Given the description of an element on the screen output the (x, y) to click on. 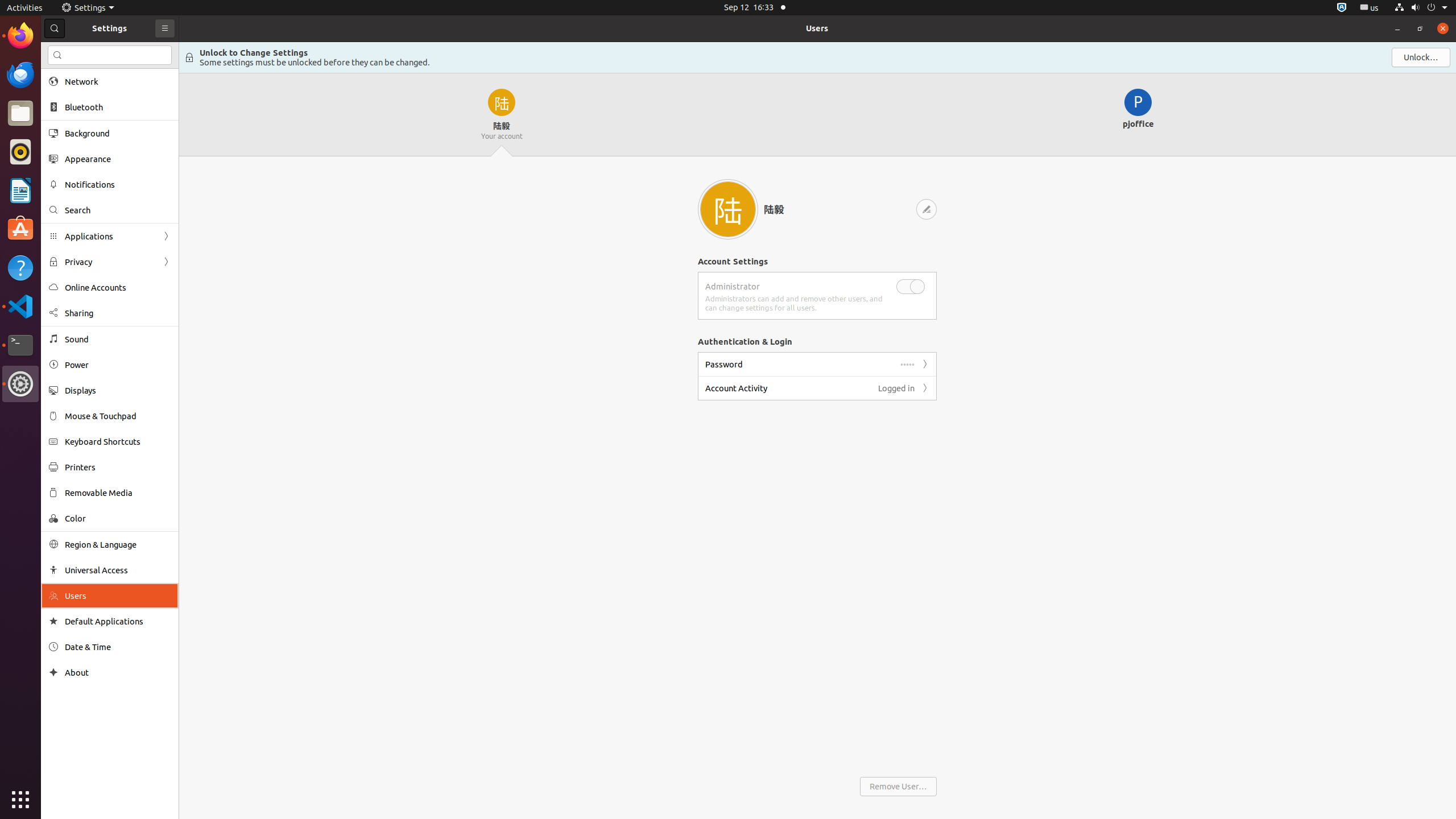
Terminal Element type: push-button (20, 344)
Users Element type: label (817, 27)
Search Element type: text (109, 54)
li.txt Element type: label (146, 50)
Sharing Element type: label (117, 312)
